Given the description of an element on the screen output the (x, y) to click on. 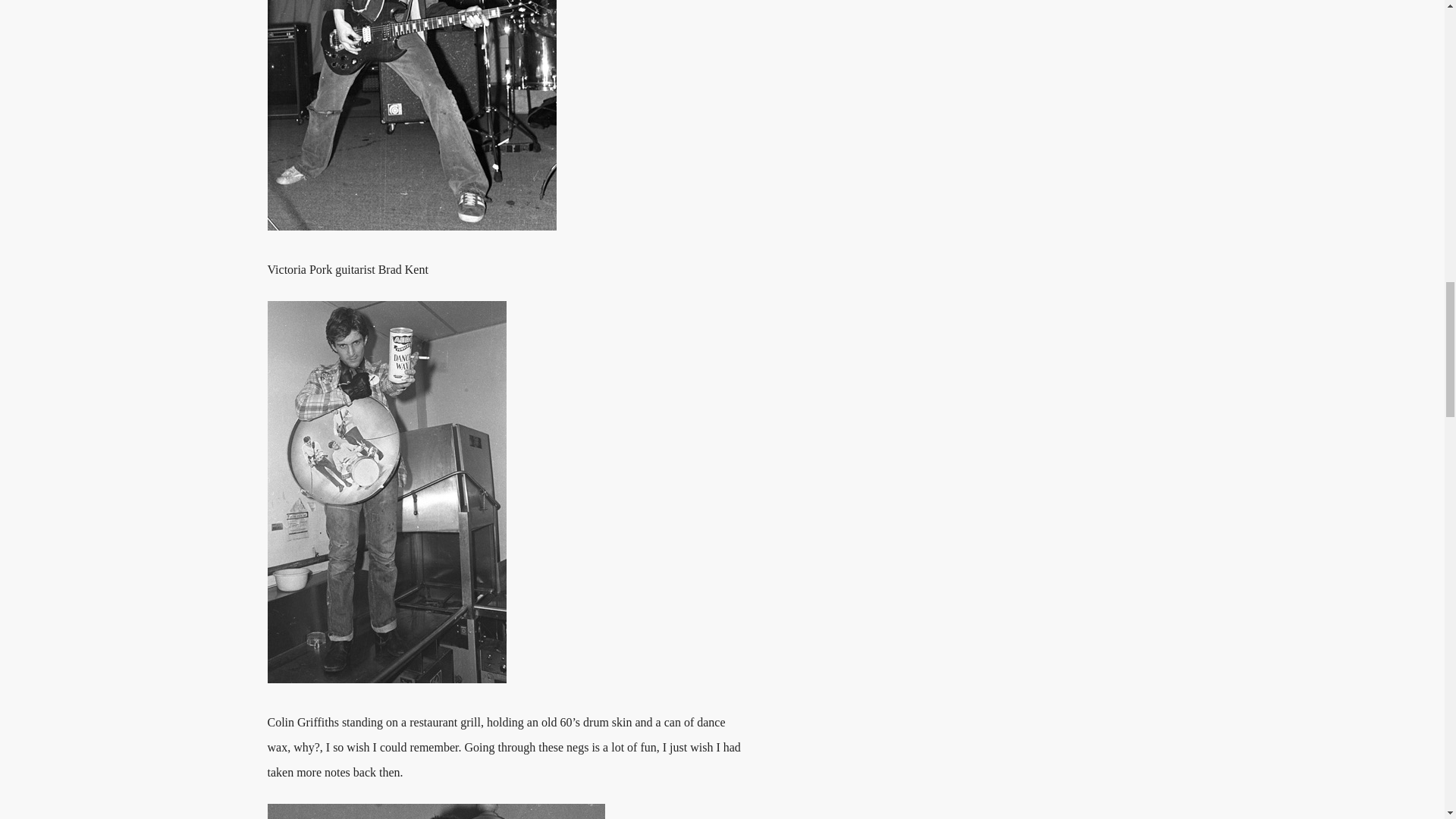
webjoe wimpy (435, 811)
webcolin1 (385, 492)
webpork2 (411, 115)
